Given the description of an element on the screen output the (x, y) to click on. 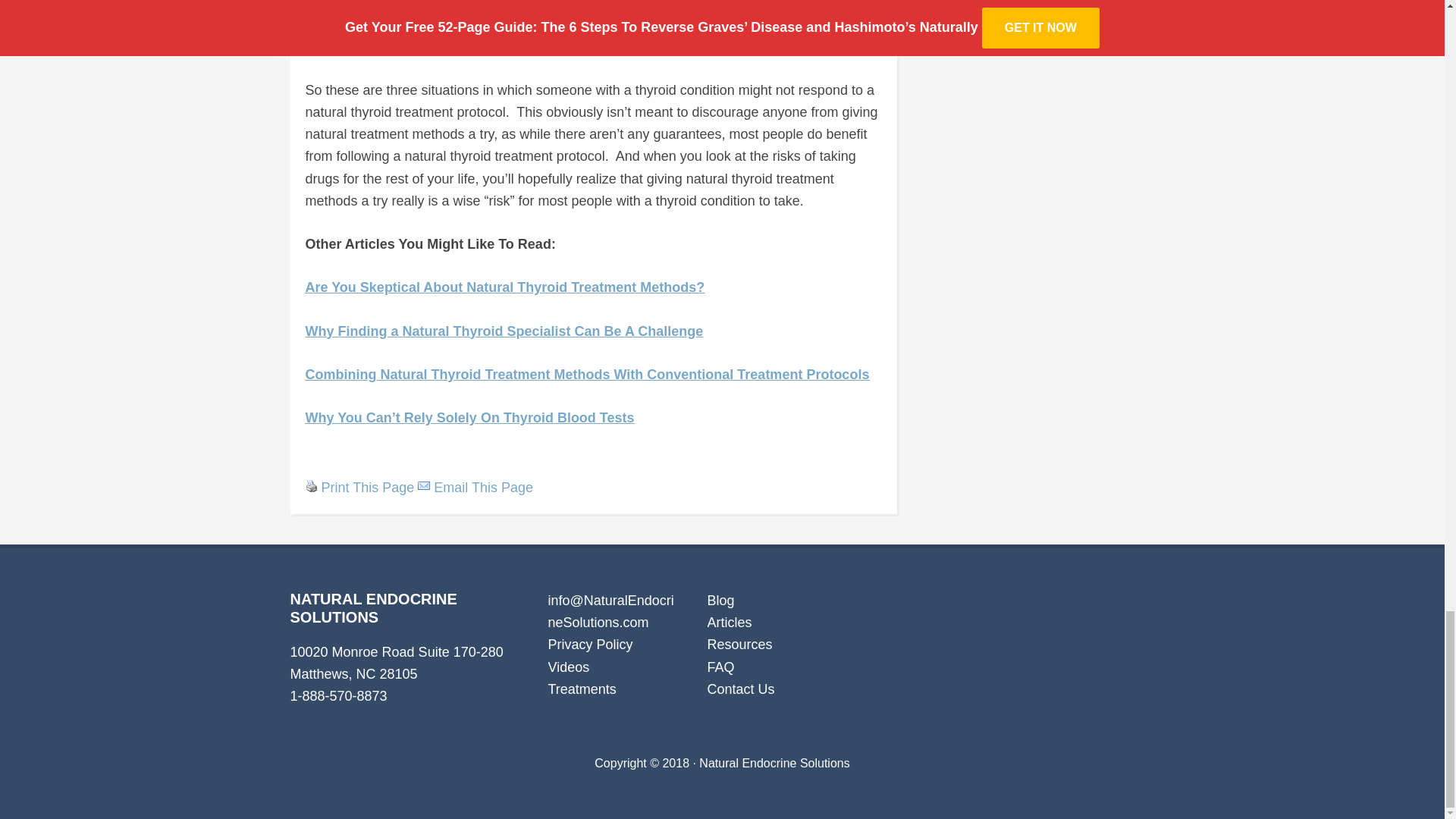
Resources (738, 644)
Email This Page (482, 487)
Why Finding a Natural Thyroid Specialist Can Be A Challenge (503, 331)
Videos (568, 666)
Are You Skeptical About Natural Thyroid Treatment Methods? (504, 287)
Print This Page (367, 487)
Blog (719, 600)
Print This Page (310, 485)
Privacy Policy (589, 644)
Treatments (581, 688)
